Given the description of an element on the screen output the (x, y) to click on. 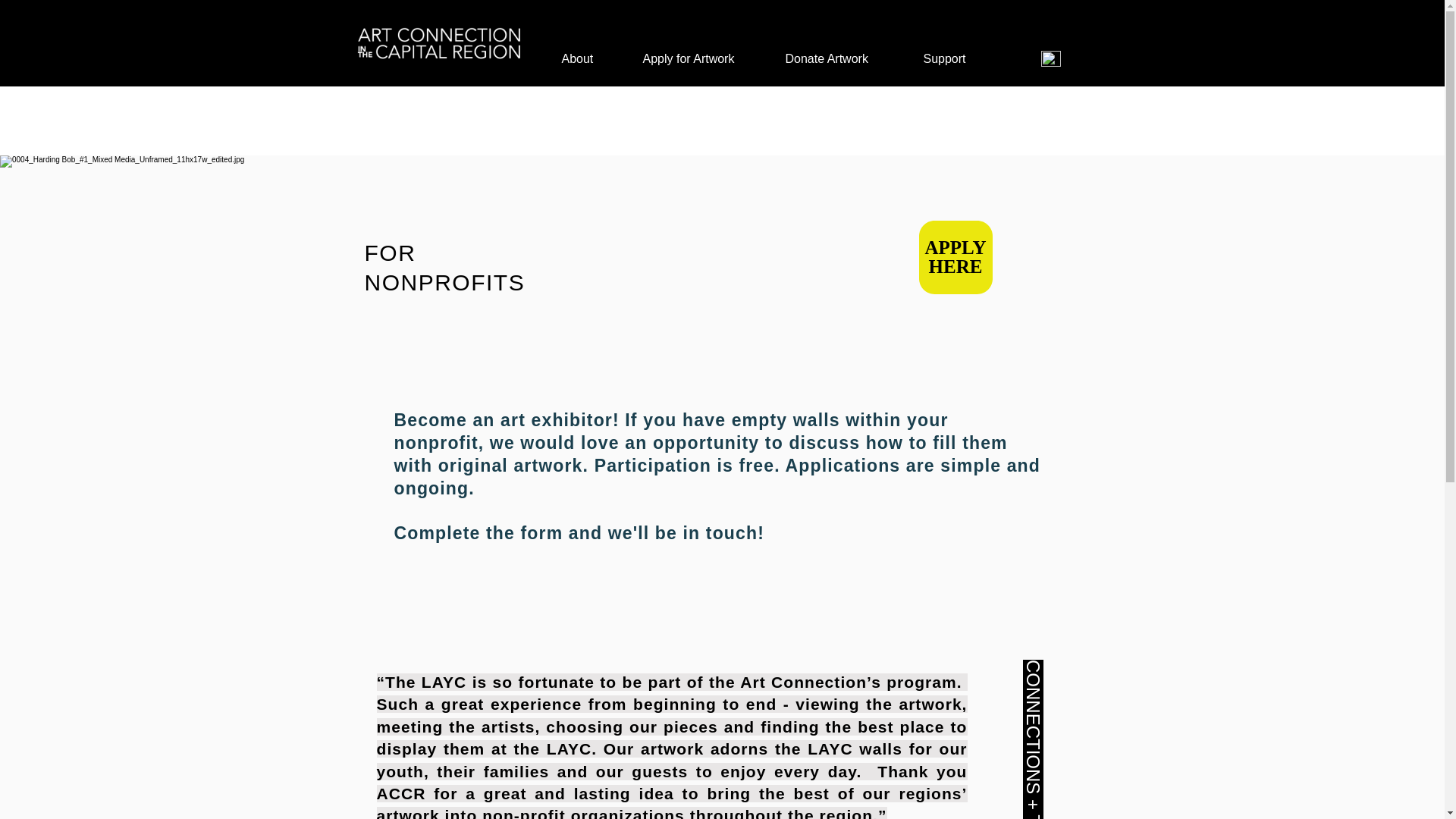
Support (944, 58)
Apply for Artwork (689, 58)
Donate Artwork (826, 58)
About (576, 58)
